Given the description of an element on the screen output the (x, y) to click on. 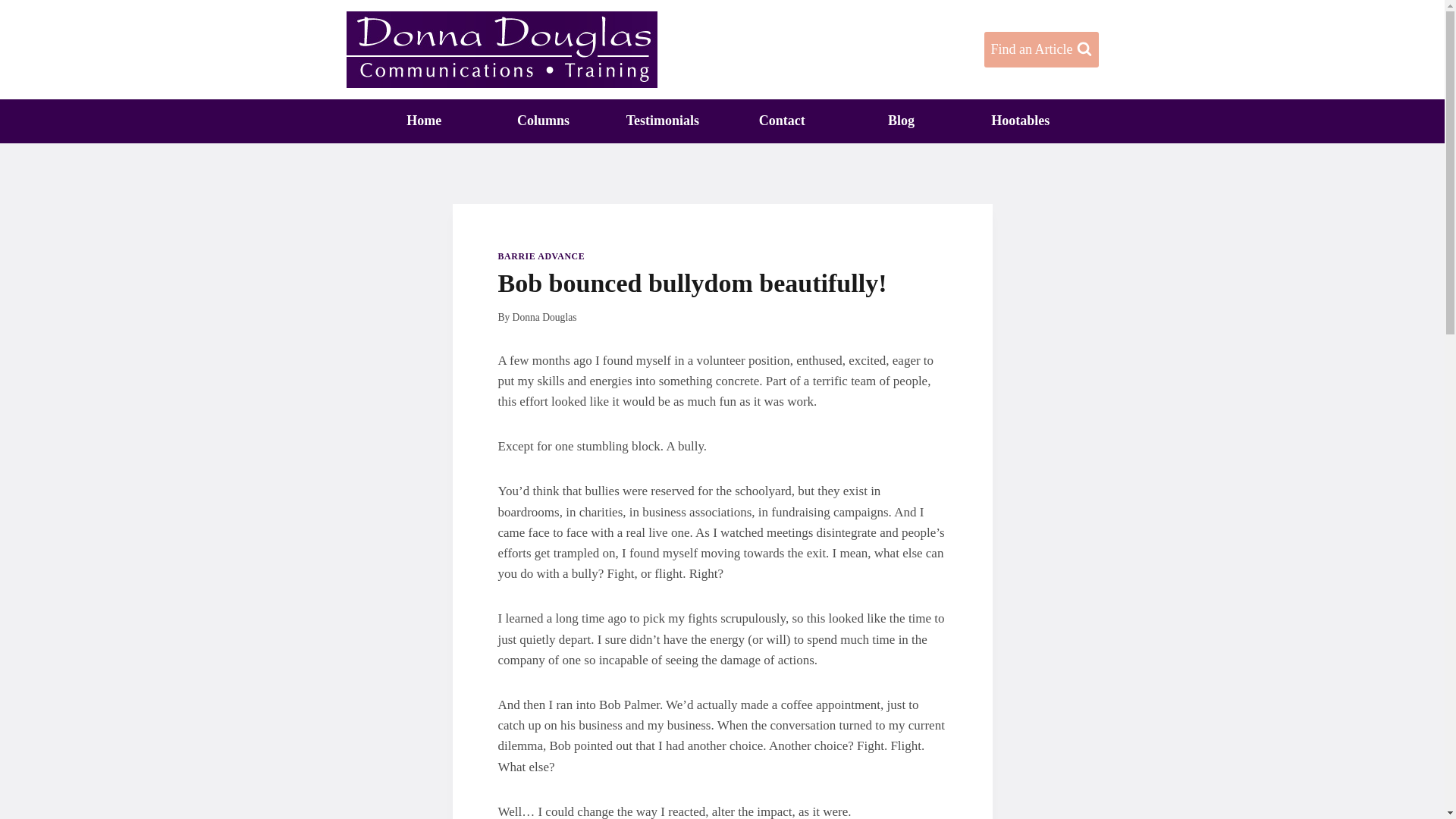
Testimonials (662, 121)
Donna Douglas (544, 317)
Blog (900, 121)
Contact (781, 121)
Find an Article (1041, 49)
Columns (542, 121)
Home (423, 121)
BARRIE ADVANCE (541, 255)
Hootables (1020, 121)
